Given the description of an element on the screen output the (x, y) to click on. 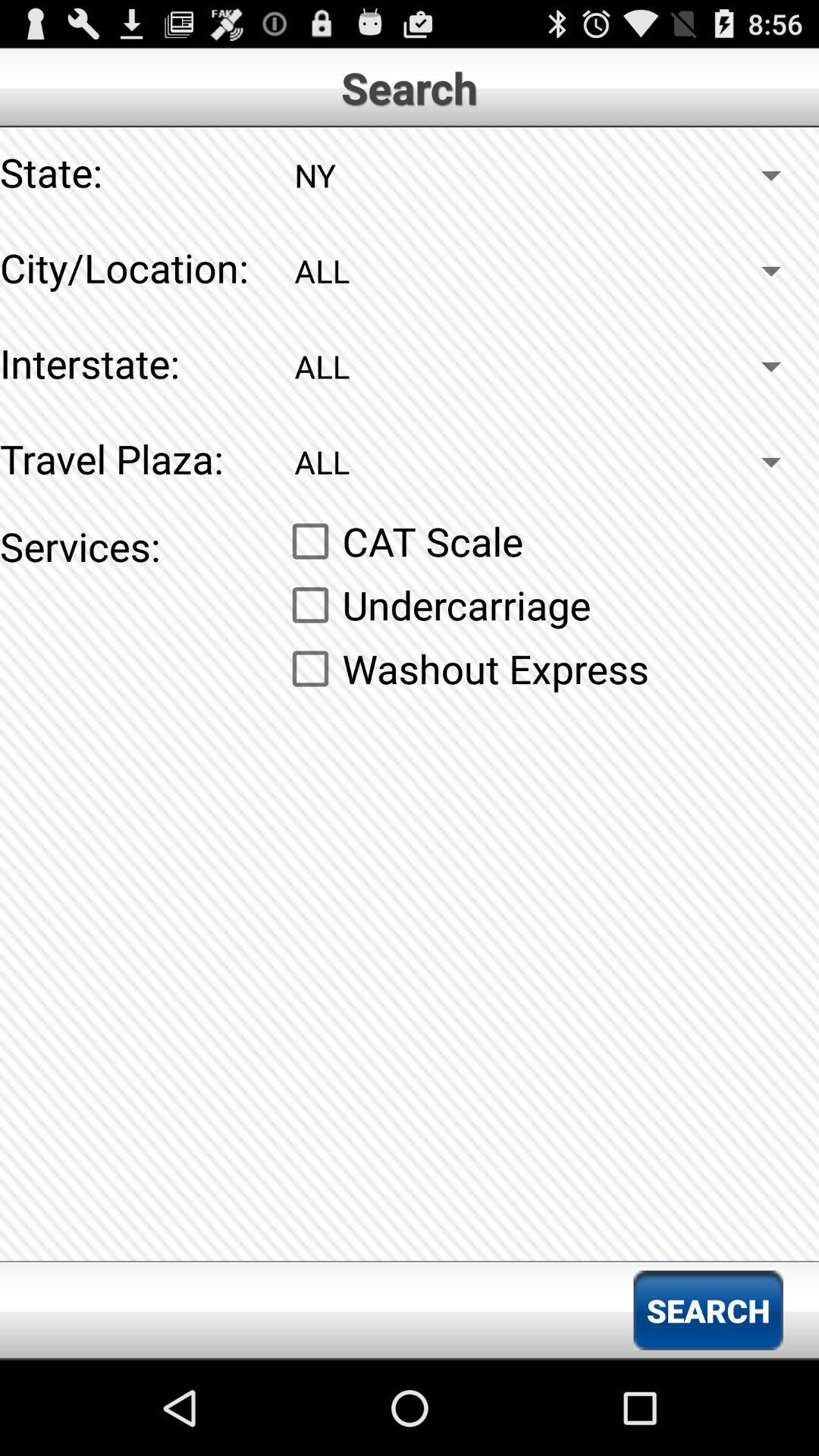
move the text right to state (549, 174)
